Given the description of an element on the screen output the (x, y) to click on. 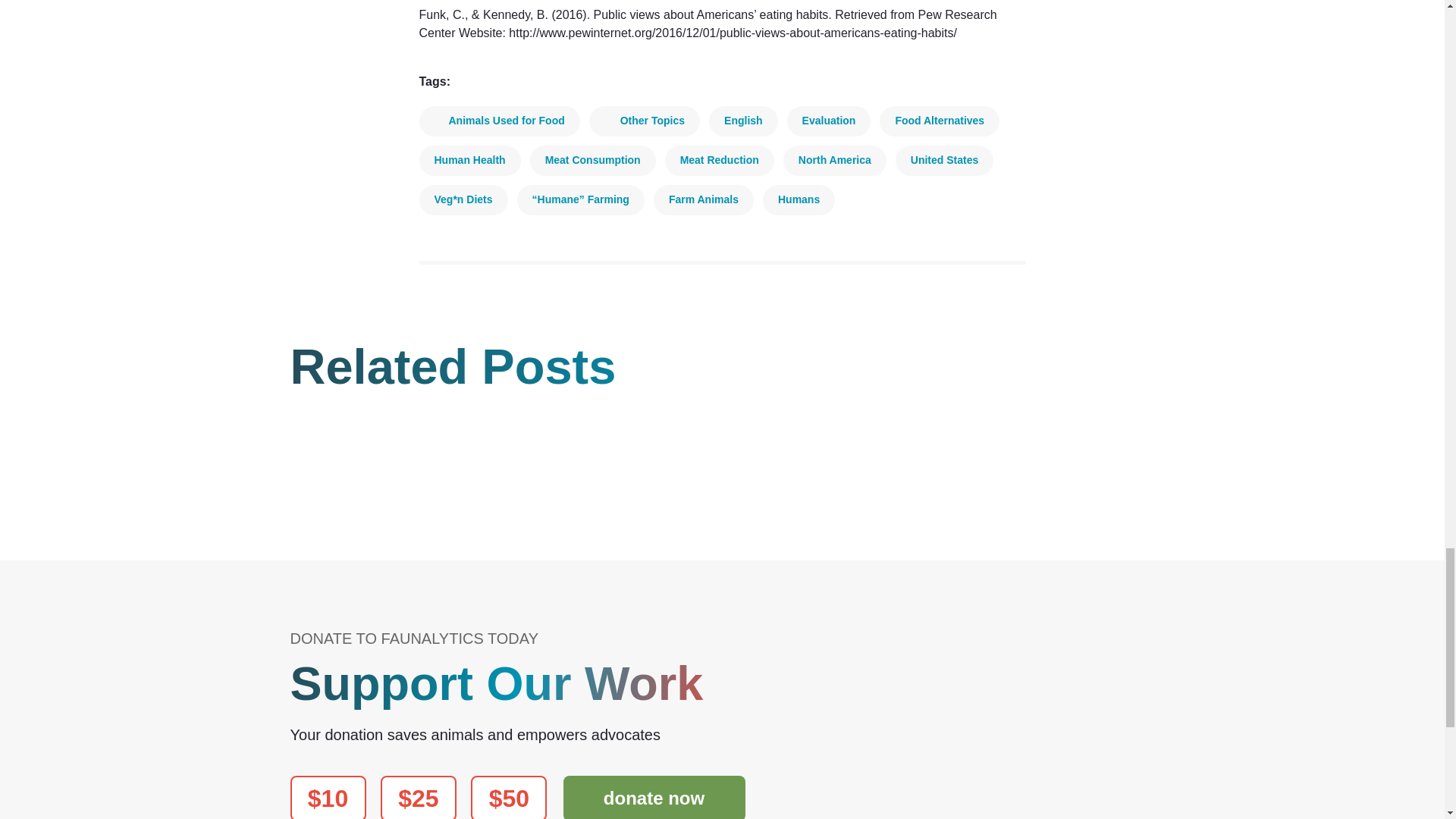
DONATE NOW (653, 797)
